Given the description of an element on the screen output the (x, y) to click on. 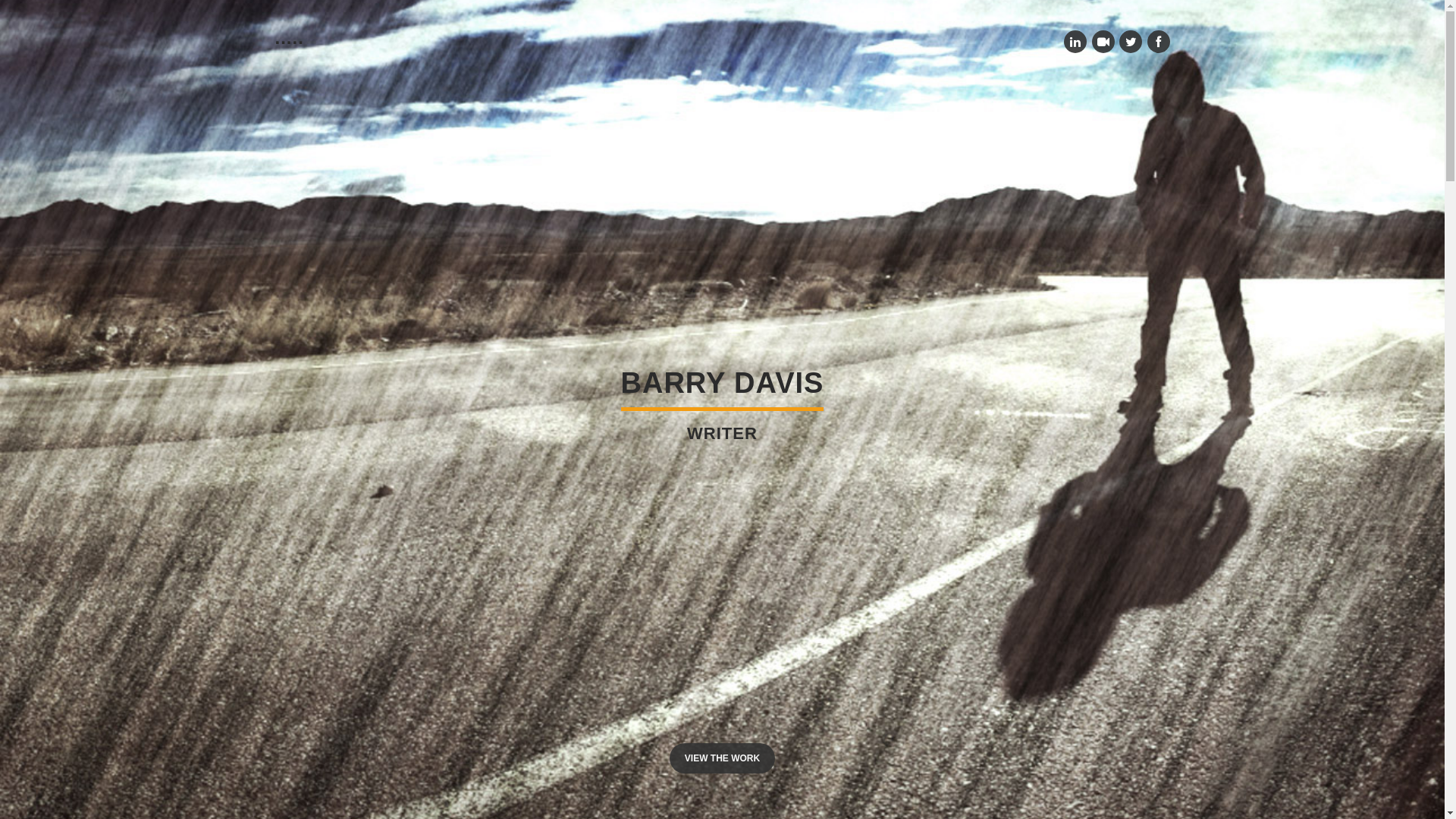
VIEW THE WORK Element type: text (722, 758)
..... Element type: text (288, 37)
